Given the description of an element on the screen output the (x, y) to click on. 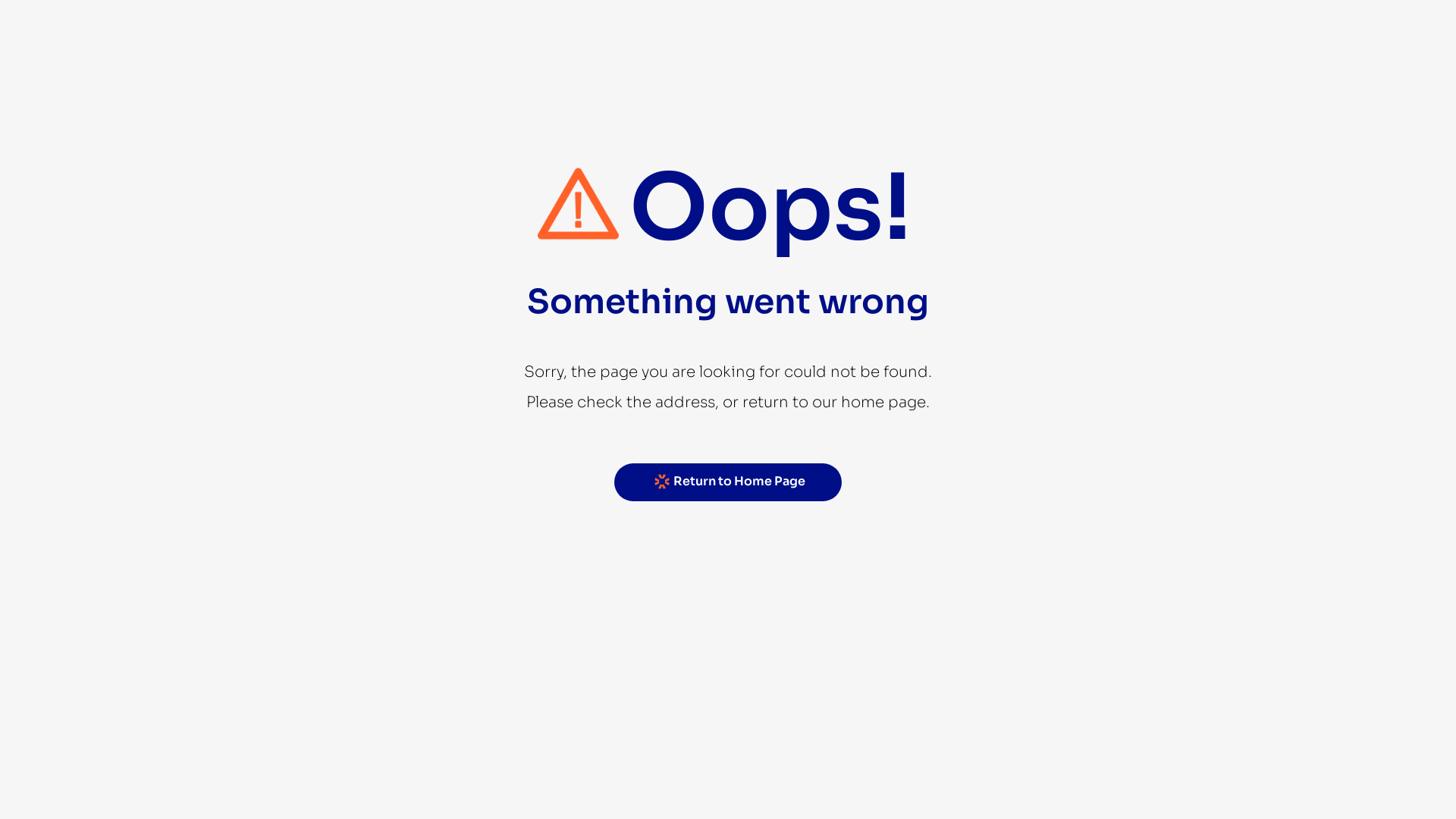
Return to Home Page Element type: text (727, 482)
